Given the description of an element on the screen output the (x, y) to click on. 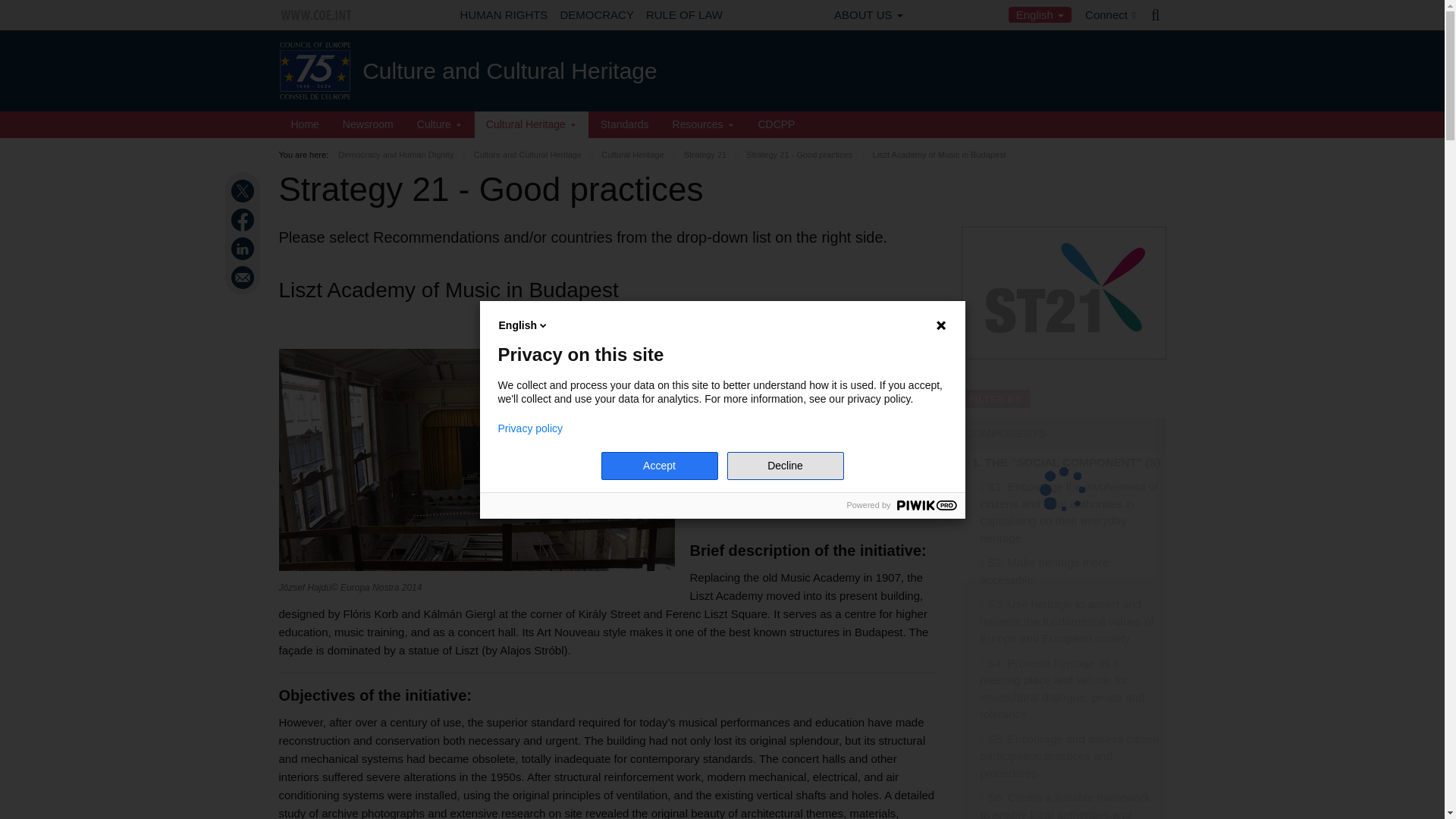
HUMAN RIGHTS (504, 15)
Share on Facebook (244, 219)
English (1040, 14)
WWW.COE.INT (317, 15)
RULE OF LAW (684, 15)
ABOUT US (868, 15)
DEMOCRACY (596, 15)
Send this page (244, 277)
Connect (1109, 15)
Share on Linkedin (244, 248)
